Given the description of an element on the screen output the (x, y) to click on. 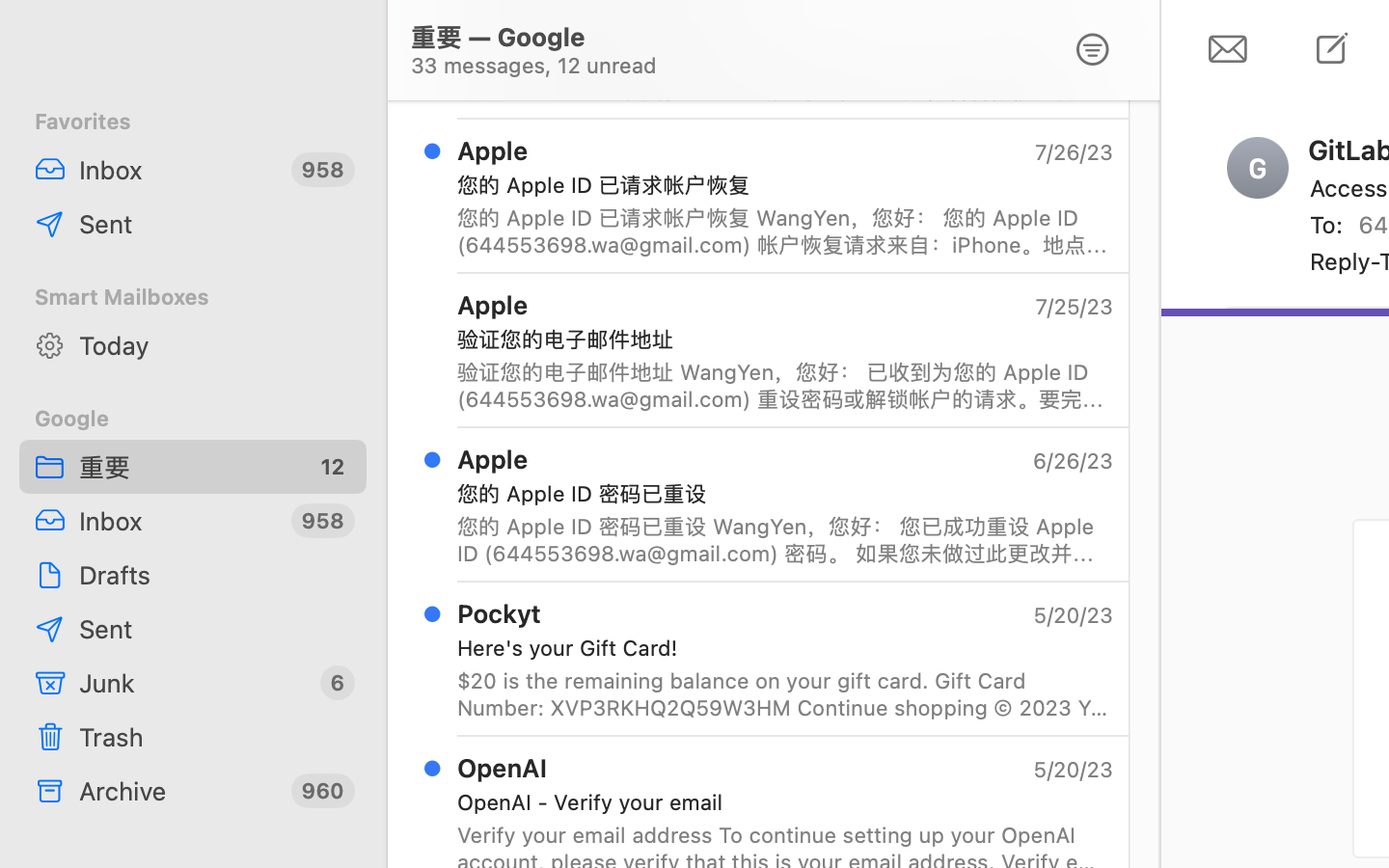
G Element type: AXStaticText (1257, 167)
Junk Element type: AXStaticText (191, 682)
Pockyt Element type: AXStaticText (499, 612)
OpenAI Element type: AXStaticText (502, 767)
您的 Apple ID 已请求帐户恢复 Element type: AXStaticText (777, 184)
